Given the description of an element on the screen output the (x, y) to click on. 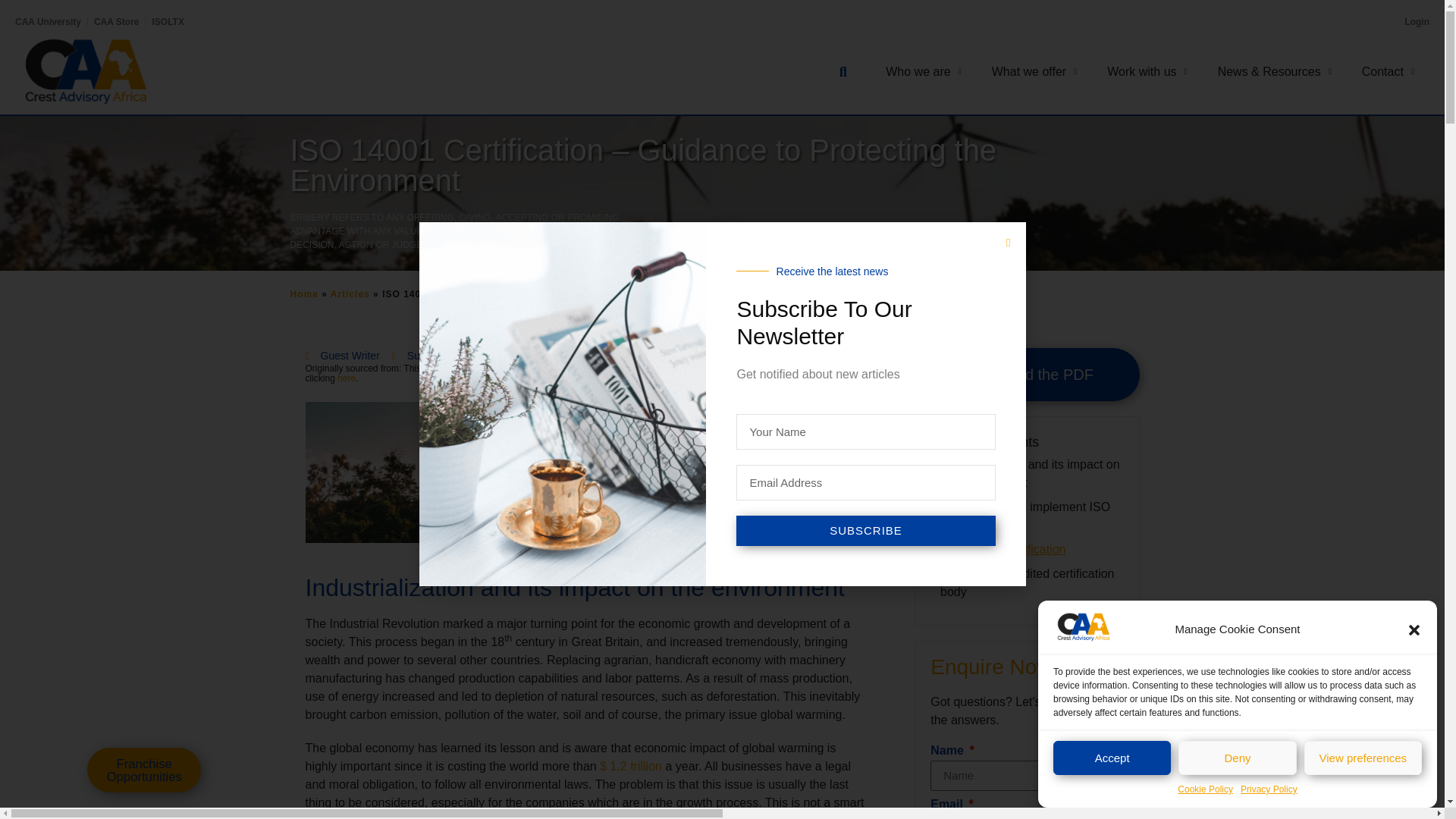
ISOLTX (167, 21)
CAA Store (116, 21)
Login (1417, 21)
Work with us (1147, 71)
Who we are (922, 71)
CAA University (47, 21)
What we offer (1034, 71)
